Given the description of an element on the screen output the (x, y) to click on. 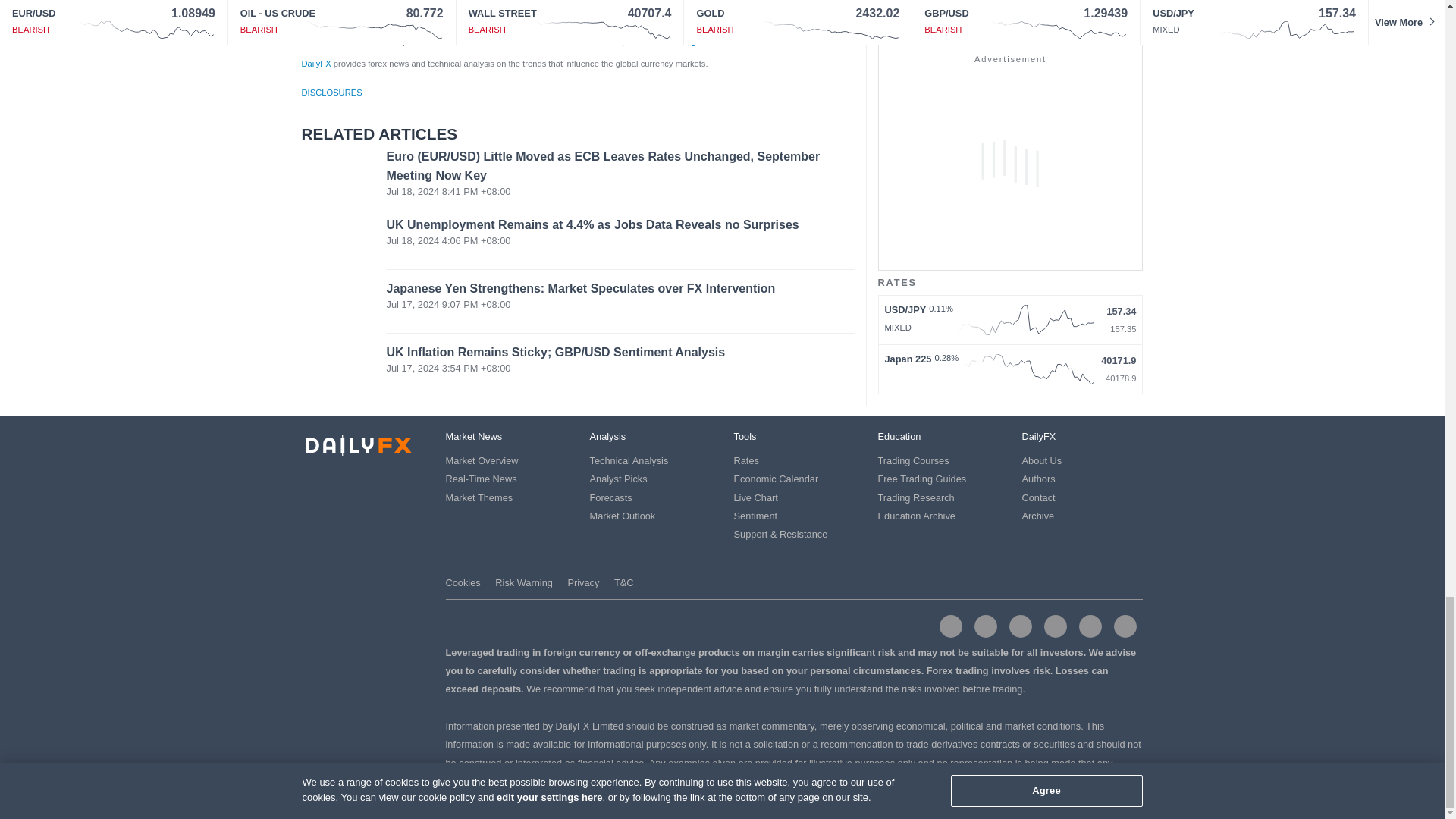
Analysis (607, 436)
Rates (745, 460)
Market Overview (481, 460)
Market Outlook (622, 515)
Economic Calendar (775, 478)
Market Themes (479, 497)
Real-Time News (480, 478)
Technical Analysis (628, 460)
Analyst Picks (618, 478)
Forecasts (610, 497)
Tools (745, 436)
Market News (473, 436)
